Given the description of an element on the screen output the (x, y) to click on. 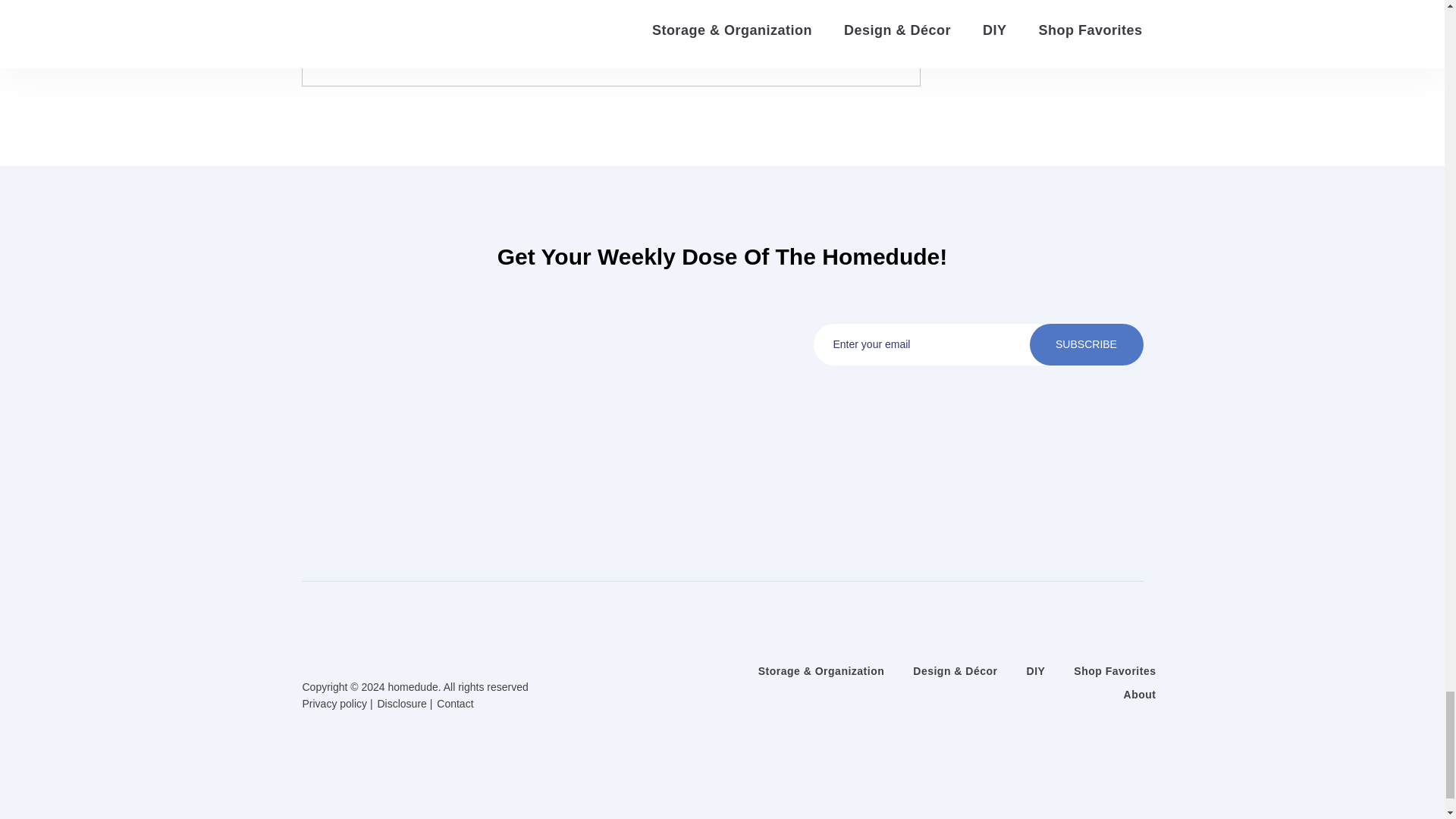
Subscribe (1085, 344)
About (1139, 695)
DIY (1035, 671)
Shop Favorites (1114, 671)
Subscribe (1085, 344)
DMCA.com Protection Status (722, 768)
Contact (454, 703)
